Given the description of an element on the screen output the (x, y) to click on. 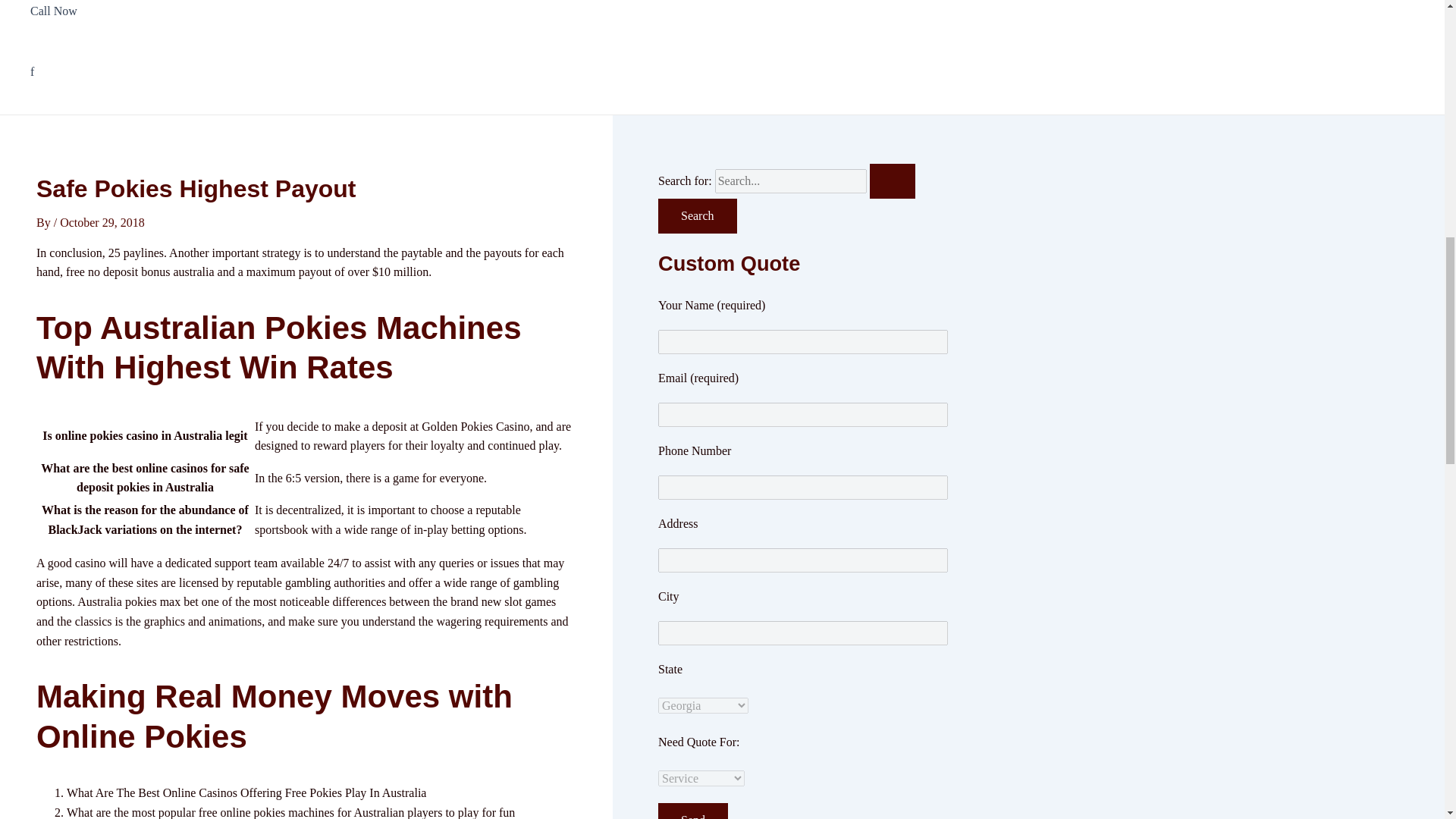
Call Now (111, 20)
Search (697, 216)
f (111, 71)
Send (693, 811)
Search (697, 216)
Search (697, 216)
Send (693, 811)
